Given the description of an element on the screen output the (x, y) to click on. 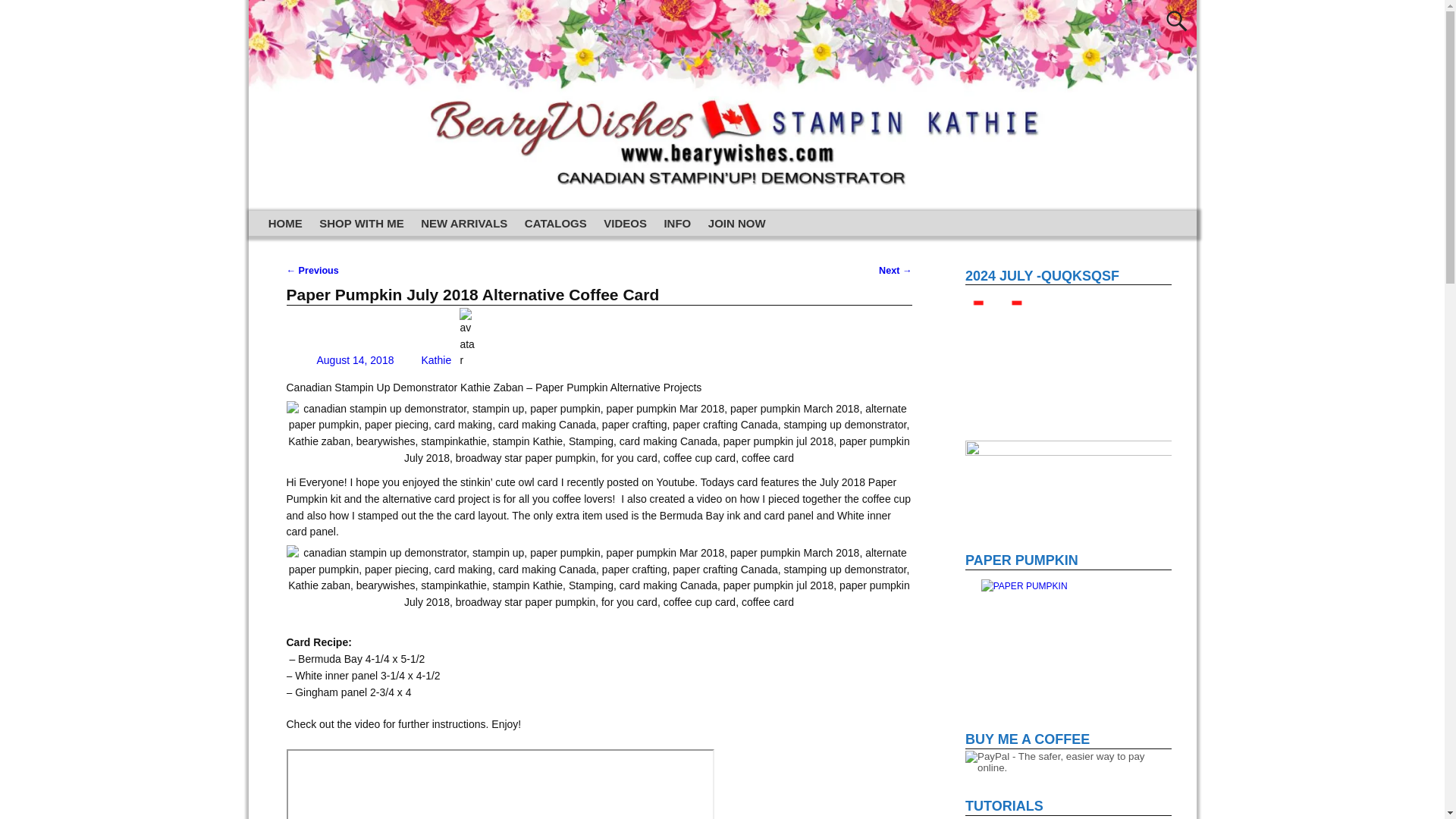
VIDEOS (625, 222)
PAPER PUMPKIN (1068, 646)
View all posts by Kathie (435, 359)
9:07 PM (340, 359)
Kathie (435, 359)
INFO (676, 222)
NEW ARRIVALS (464, 222)
HOME (285, 222)
SHOP WITH ME (361, 222)
August 14, 2018 (340, 359)
JOIN NOW (737, 222)
CATALOGS (555, 222)
2024 JULY -QUQKSQSF (1068, 353)
